Given the description of an element on the screen output the (x, y) to click on. 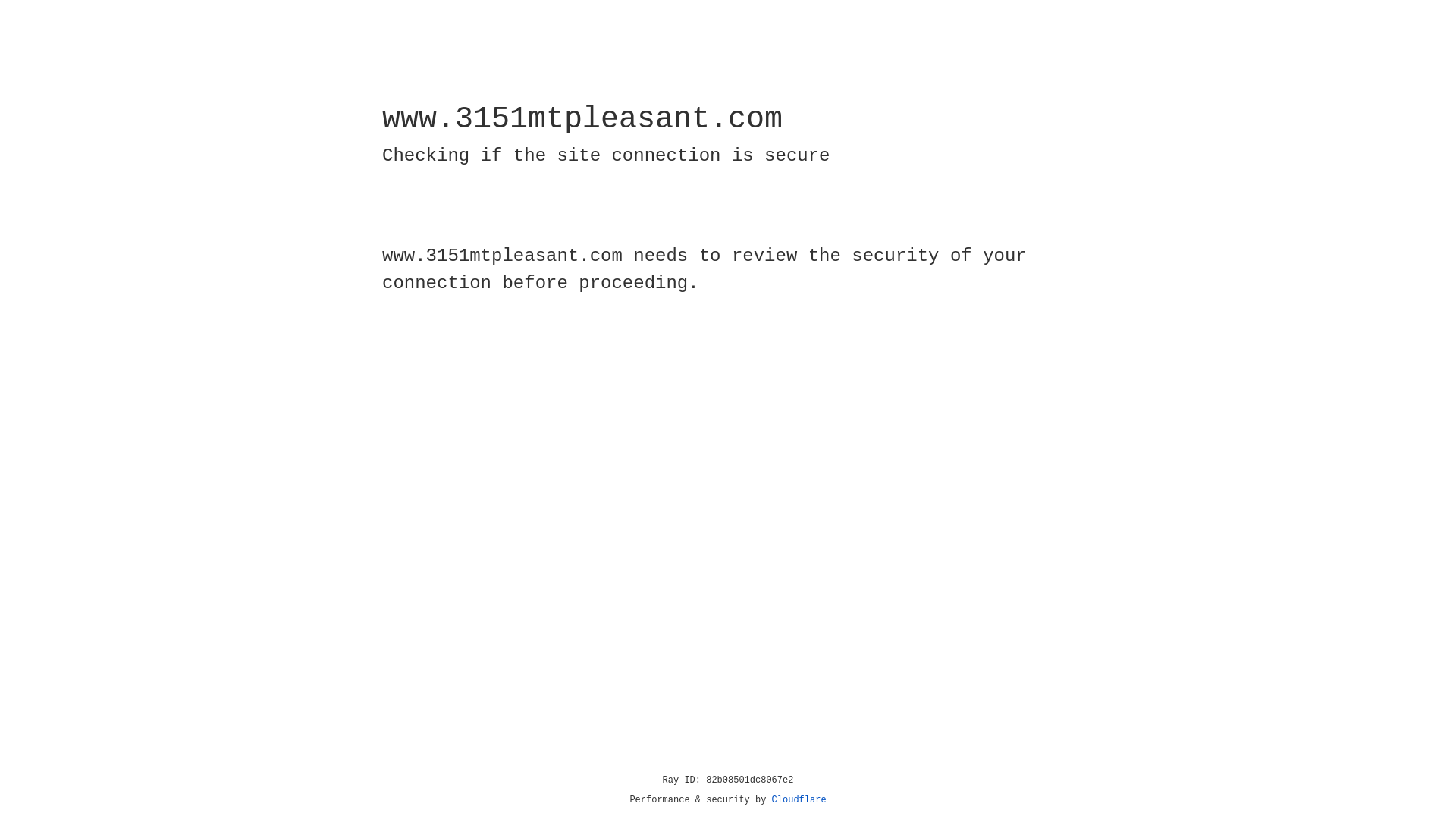
Cloudflare Element type: text (798, 799)
